Given the description of an element on the screen output the (x, y) to click on. 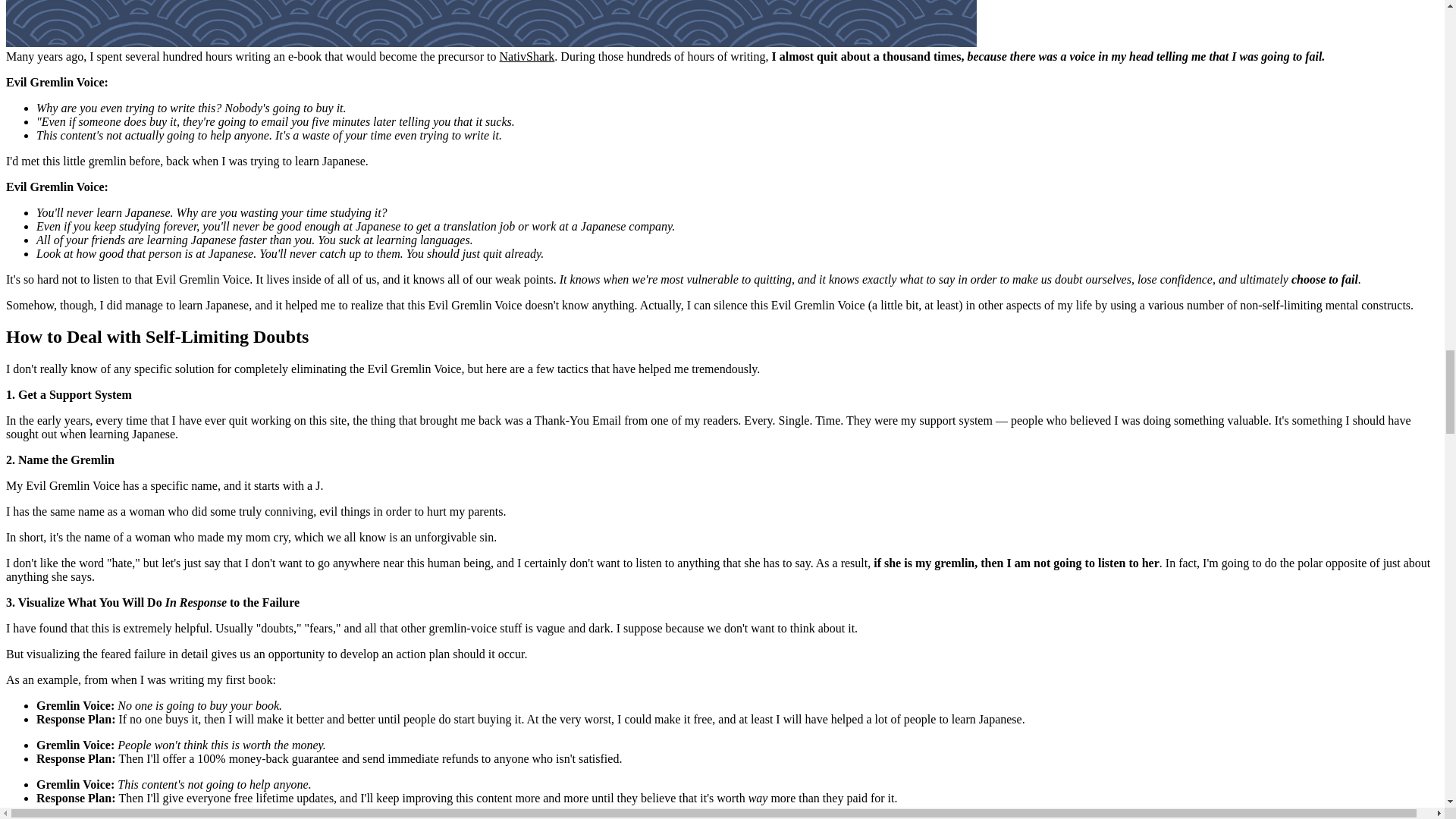
NativShark (526, 56)
